Given the description of an element on the screen output the (x, y) to click on. 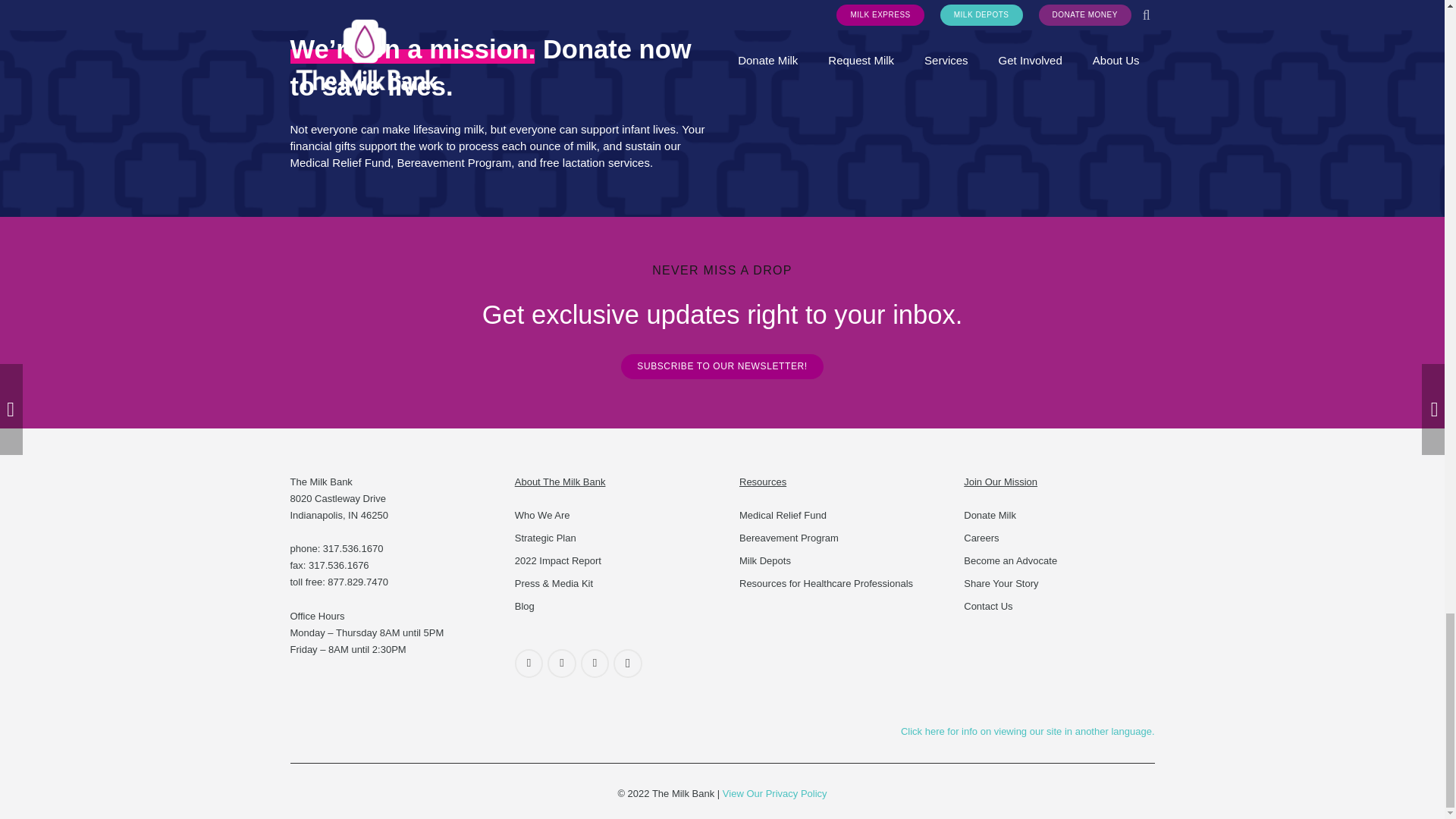
Facebook (529, 663)
Instagram (627, 663)
LinkedIn (595, 663)
Twitter (561, 663)
Subscribe to The Milk Bank (722, 366)
